Given the description of an element on the screen output the (x, y) to click on. 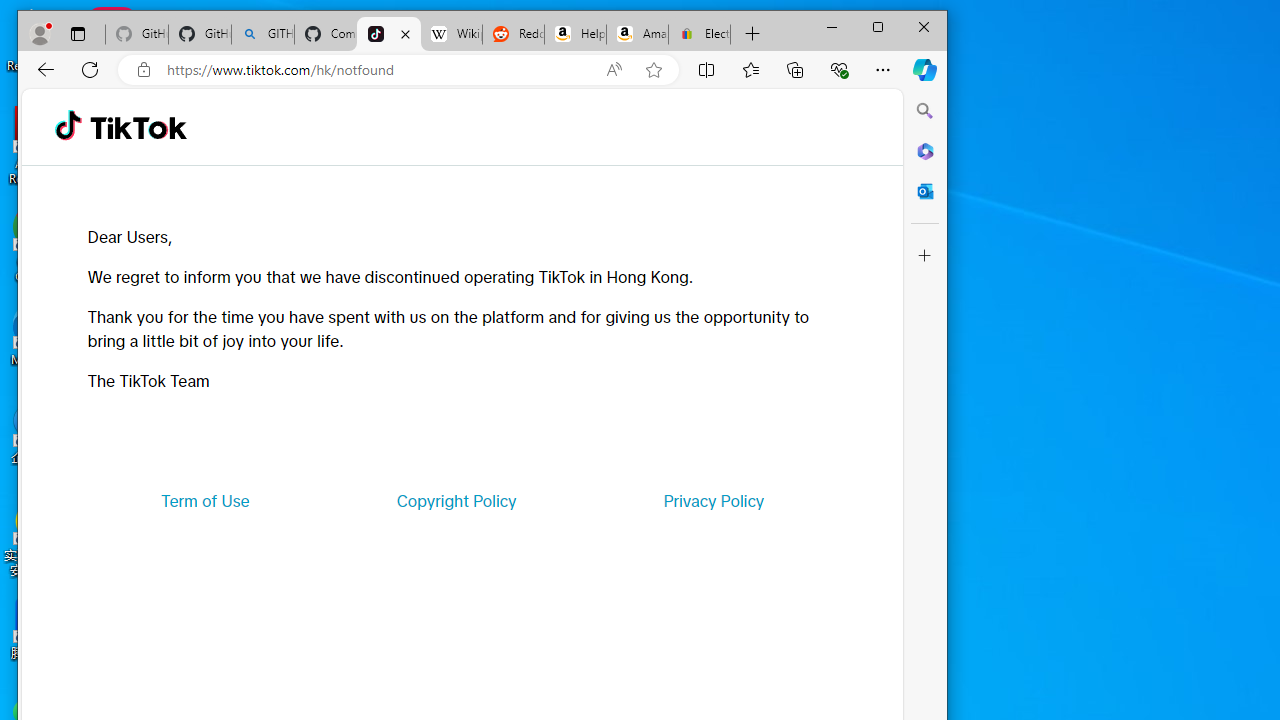
TikTok (388, 34)
Wikipedia, the free encyclopedia (451, 34)
Help & Contact Us - Amazon Customer Service (575, 34)
Reddit - Dive into anything (512, 34)
TikTok (138, 126)
